Given the description of an element on the screen output the (x, y) to click on. 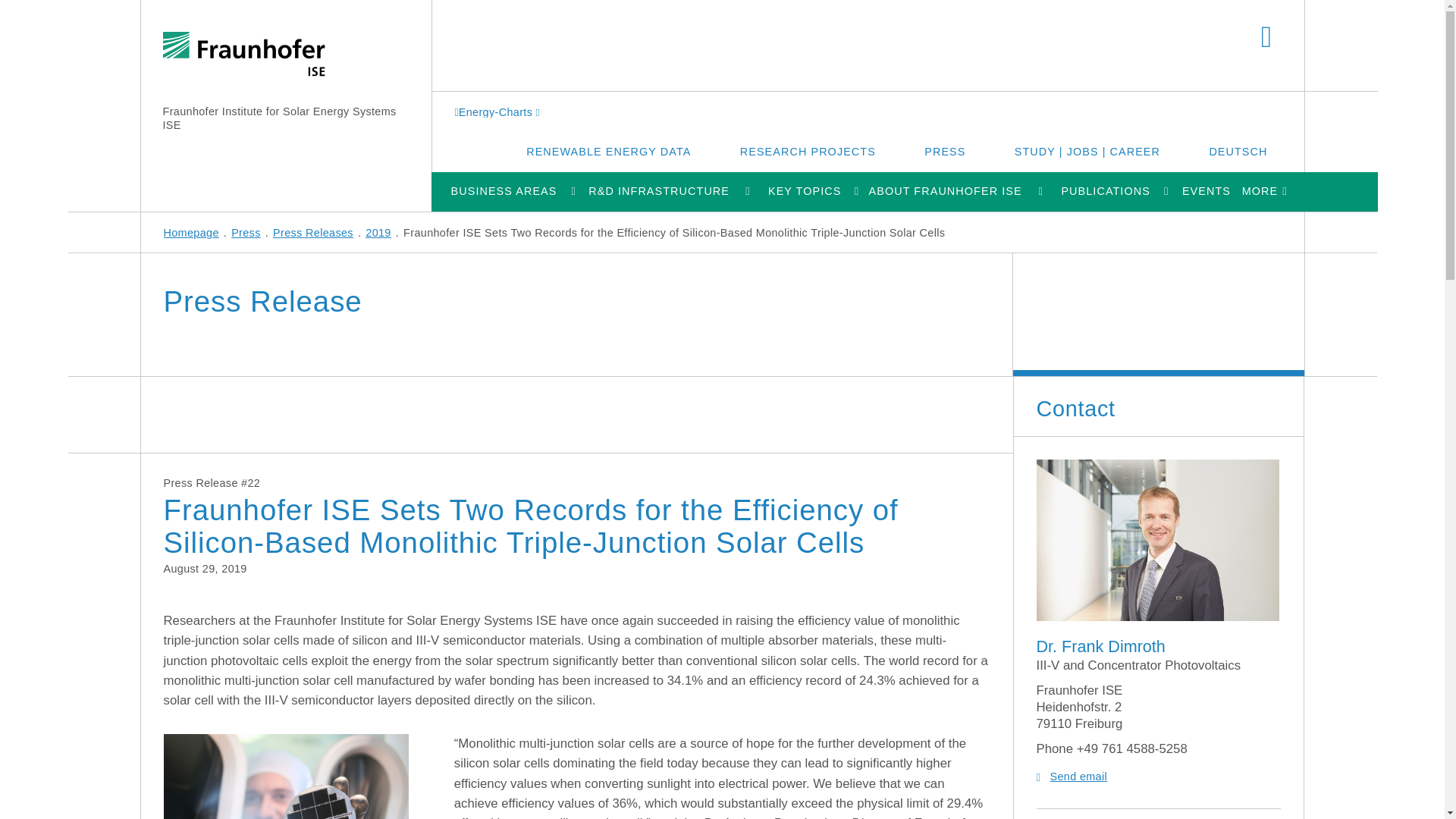
PRESS (944, 151)
Fraunhofer ISE (242, 53)
Triple-junction solar cell made of III-V semiconductors  (275, 776)
SEARCH (1266, 37)
RESEARCH PROJECTS (807, 151)
RENEWABLE ENERGY DATA (608, 151)
BUSINESS AREAS (503, 191)
Fraunhofer Institute for Solar Energy Systems ISE (278, 118)
DEUTSCH (1238, 151)
Energy-Charts (498, 111)
